Given the description of an element on the screen output the (x, y) to click on. 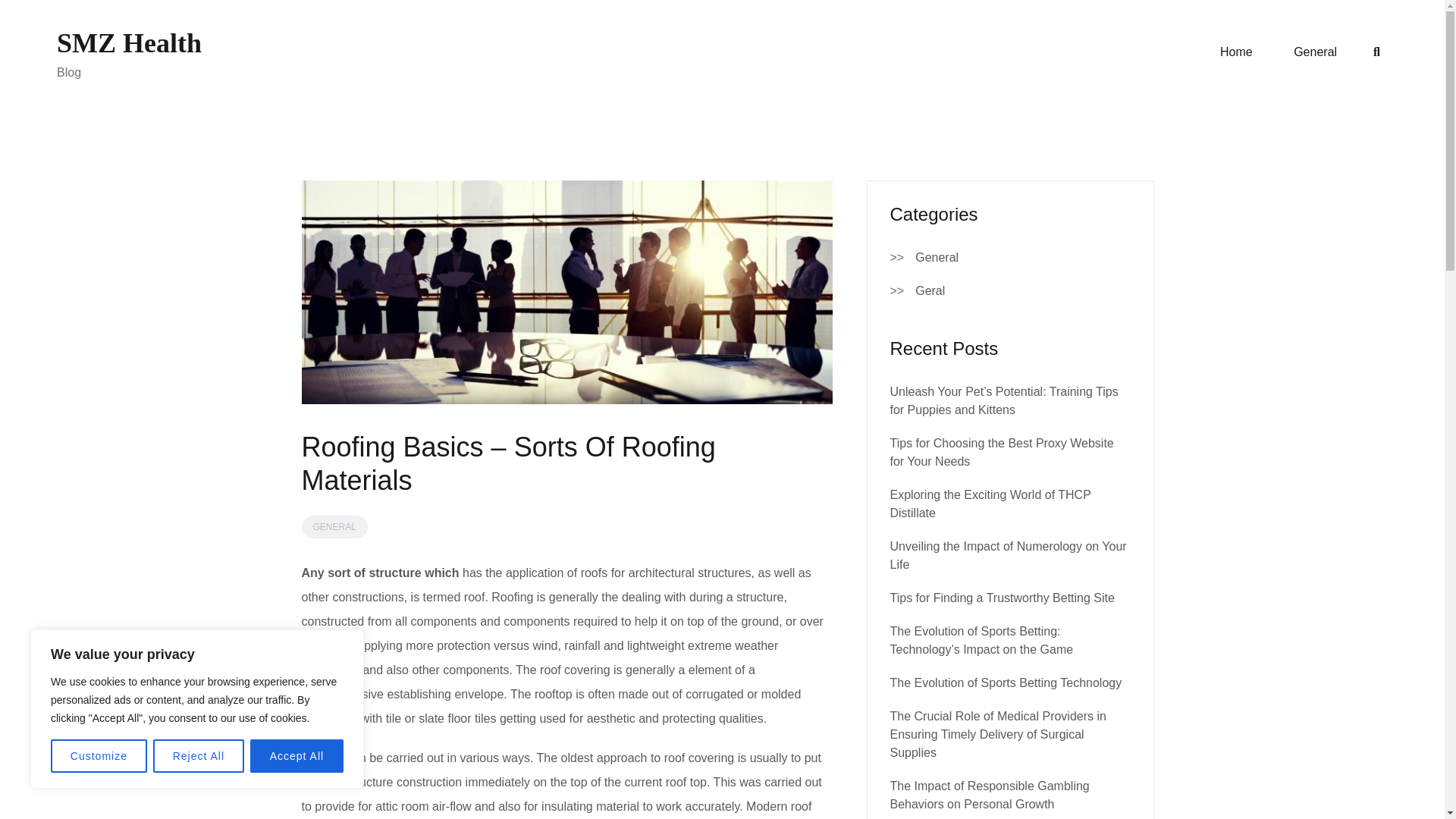
General (1315, 52)
Geral (929, 290)
Exploring the Exciting World of THCP Distillate (989, 503)
Home (1236, 52)
SMZ Health (129, 42)
Reject All (198, 756)
GENERAL (334, 526)
Unveiling the Impact of Numerology on Your Life (1007, 554)
General (936, 257)
Accept All (296, 756)
Customize (98, 756)
Tips for Finding a Trustworthy Betting Site (1002, 597)
Tips for Choosing the Best Proxy Website for Your Needs (1001, 451)
